Given the description of an element on the screen output the (x, y) to click on. 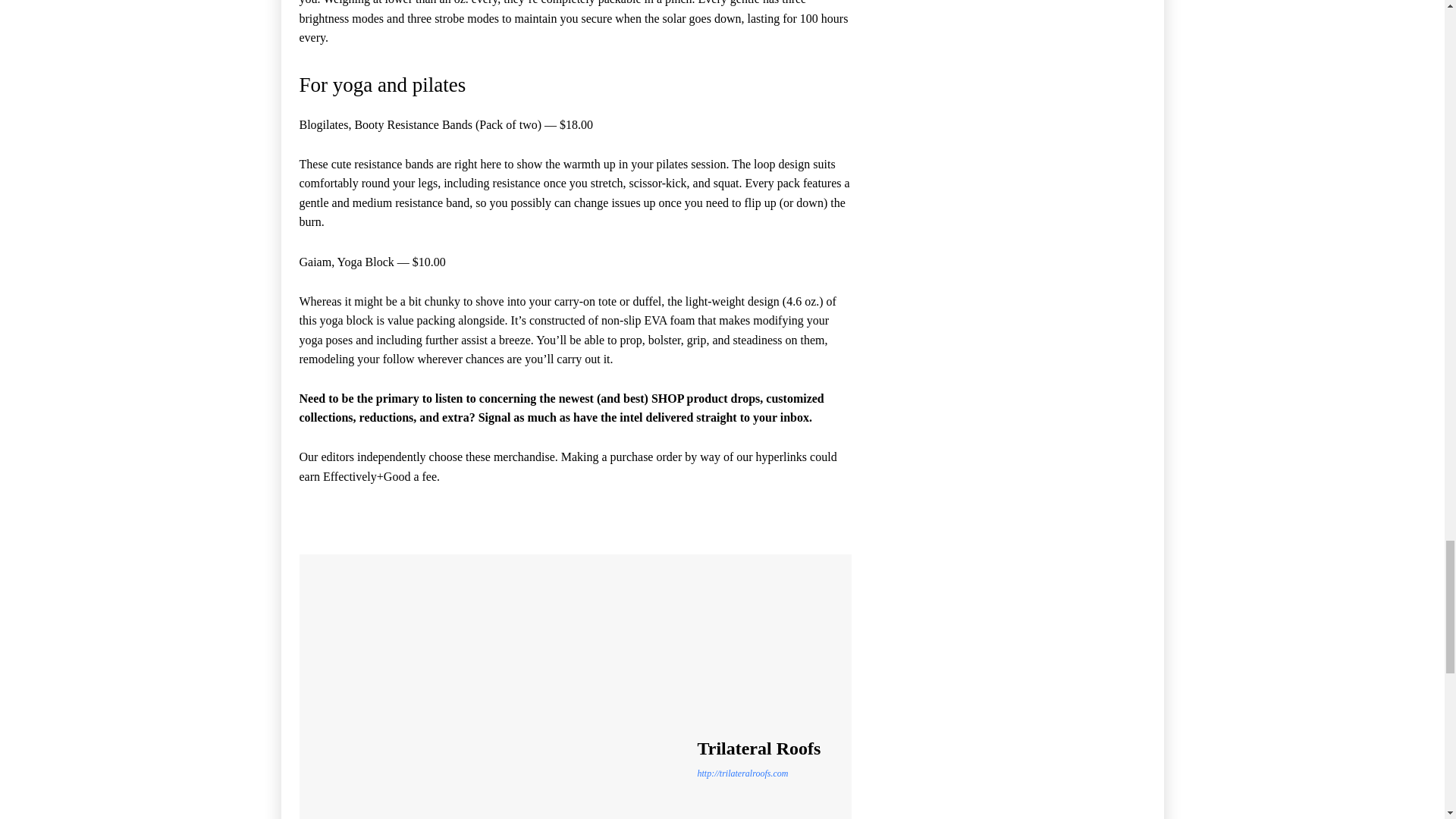
Trilateral Roofs (759, 748)
Trilateral Roofs (500, 694)
